Given the description of an element on the screen output the (x, y) to click on. 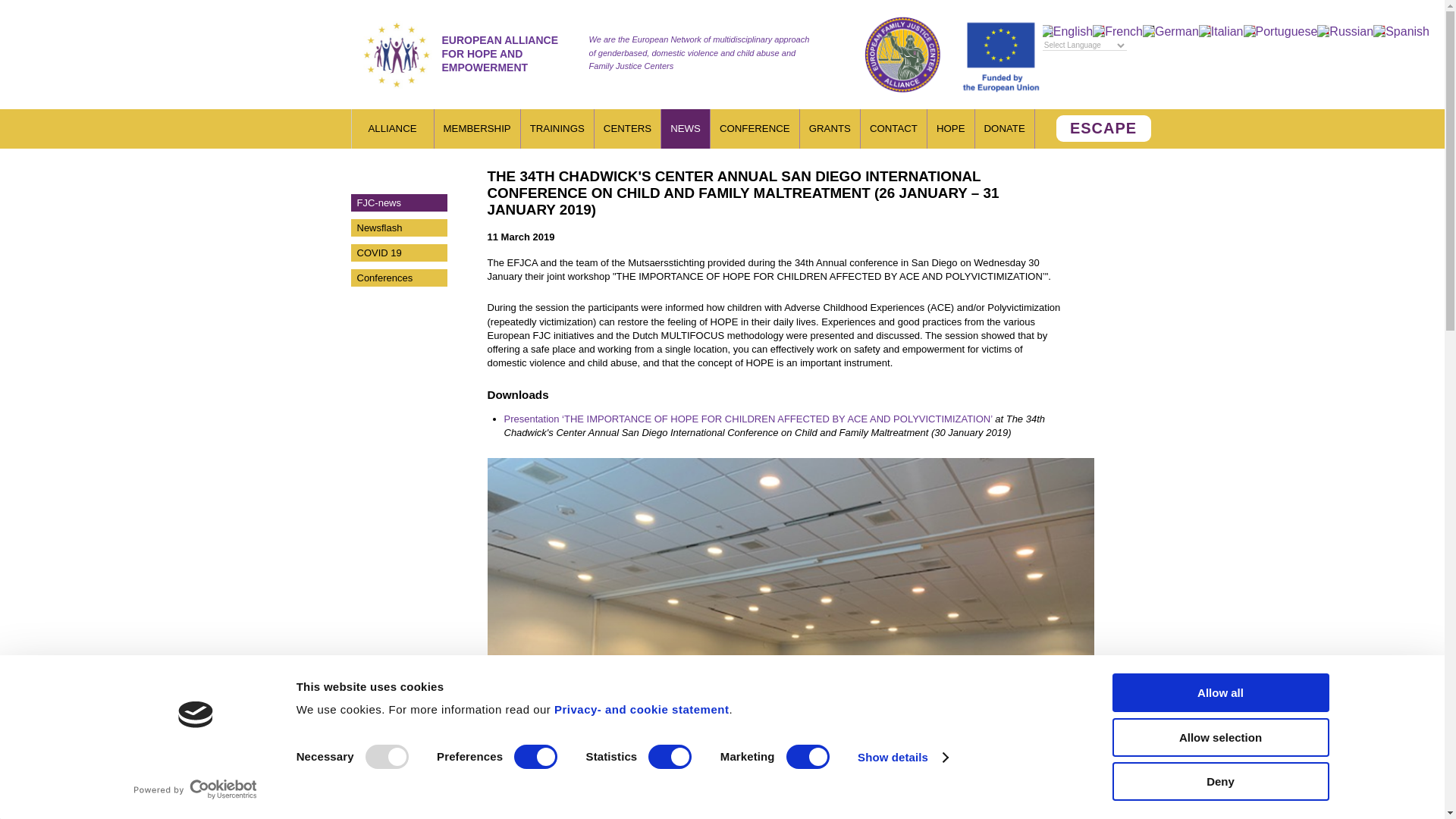
Allow all (1219, 692)
English (1067, 31)
Deny (1219, 781)
Italian (1220, 31)
Spanish (1401, 31)
German (1170, 31)
Show details (902, 757)
French (1117, 31)
Privacy- and cookie statement (641, 708)
Portuguese (1280, 31)
